Given the description of an element on the screen output the (x, y) to click on. 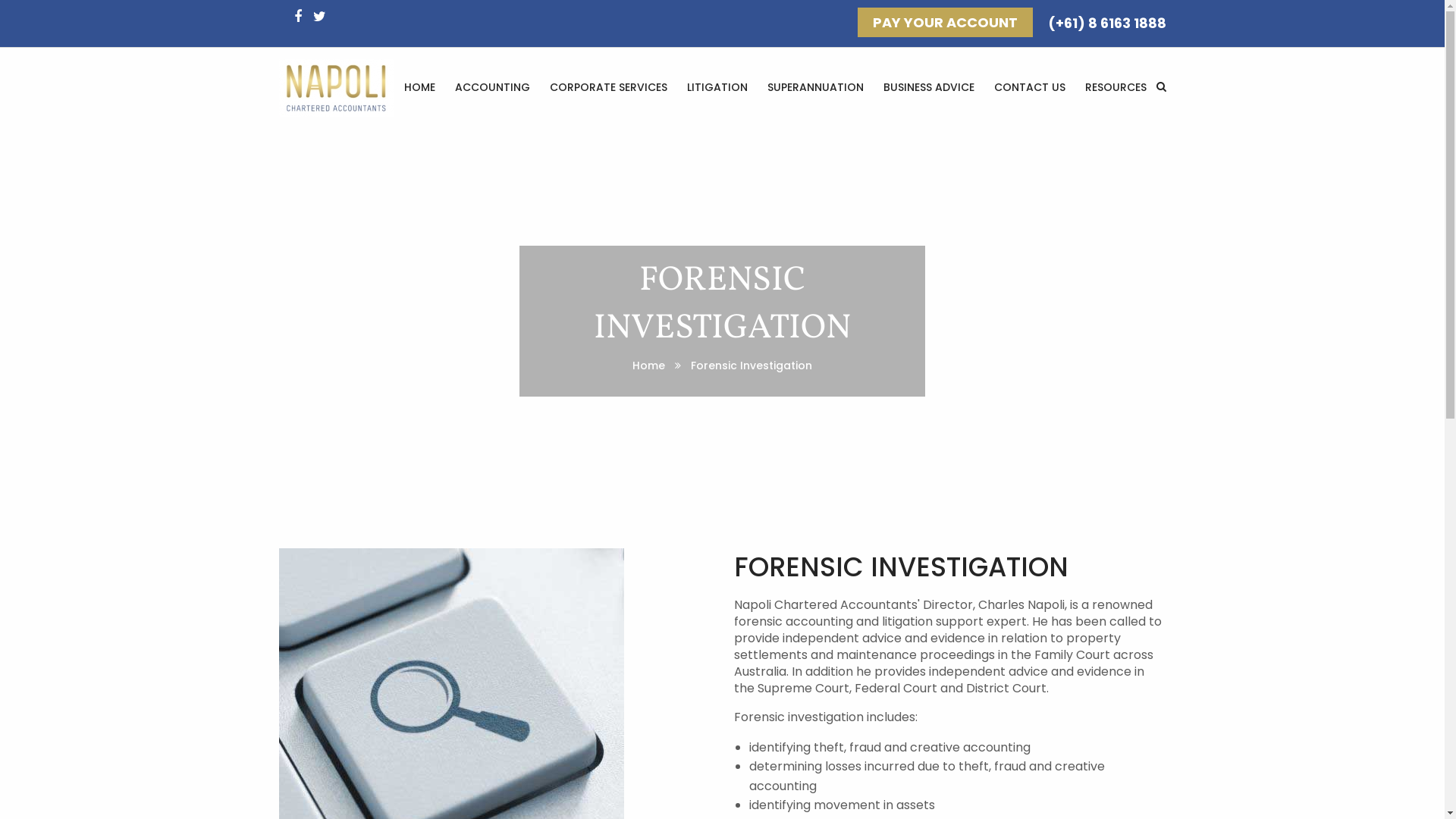
HOME Element type: text (419, 86)
LITIGATION Element type: text (716, 86)
ACCOUNTING Element type: text (491, 86)
  Element type: text (320, 16)
SUPERANNUATION Element type: text (814, 86)
  Element type: text (299, 16)
PAY YOUR ACCOUNT Element type: text (944, 22)
CONTACT US Element type: text (1029, 86)
BUSINESS ADVICE Element type: text (928, 86)
RESOURCES Element type: text (1115, 86)
Home Element type: text (648, 365)
CORPORATE SERVICES Element type: text (608, 86)
